Given the description of an element on the screen output the (x, y) to click on. 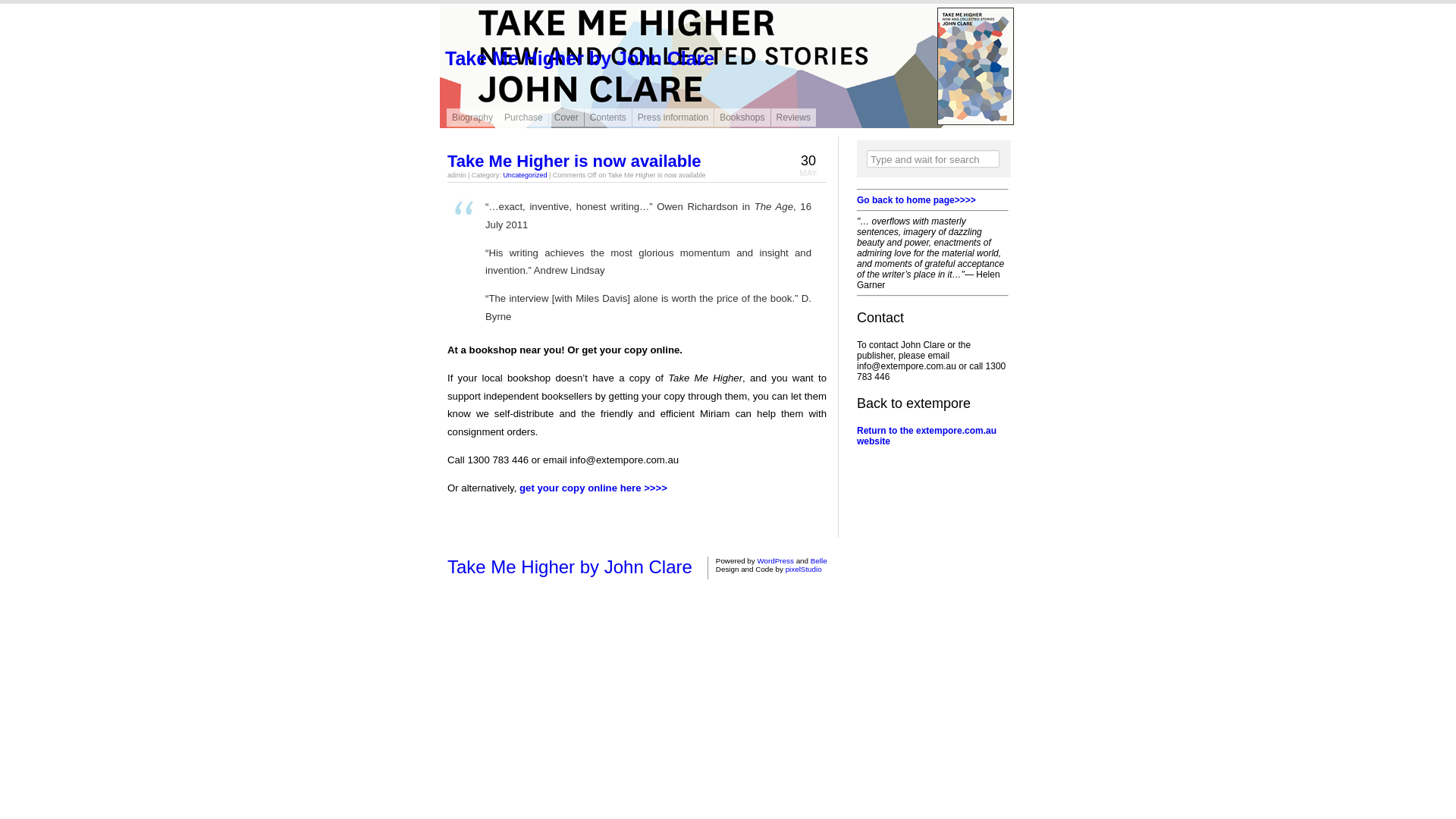
Purchase Element type: text (523, 117)
Go back to home page>>>> Element type: text (915, 199)
Belle Element type: text (818, 560)
Uncategorized Element type: text (524, 174)
Cover Element type: text (566, 117)
pixelStudio Element type: text (803, 568)
Reviews Element type: text (793, 117)
WordPress Element type: text (774, 560)
Biography Element type: text (472, 117)
Take Me Higher by John Clare Element type: text (569, 566)
Press information Element type: text (672, 117)
Take Me Higher by John Clare Element type: text (579, 58)
Return to the extempore.com.au website Element type: text (926, 435)
Take Me Higher is now available Element type: text (574, 160)
get your copy online here >>>> Element type: text (593, 487)
Bookshops Element type: text (741, 117)
Contents Element type: text (607, 117)
